Given the description of an element on the screen output the (x, y) to click on. 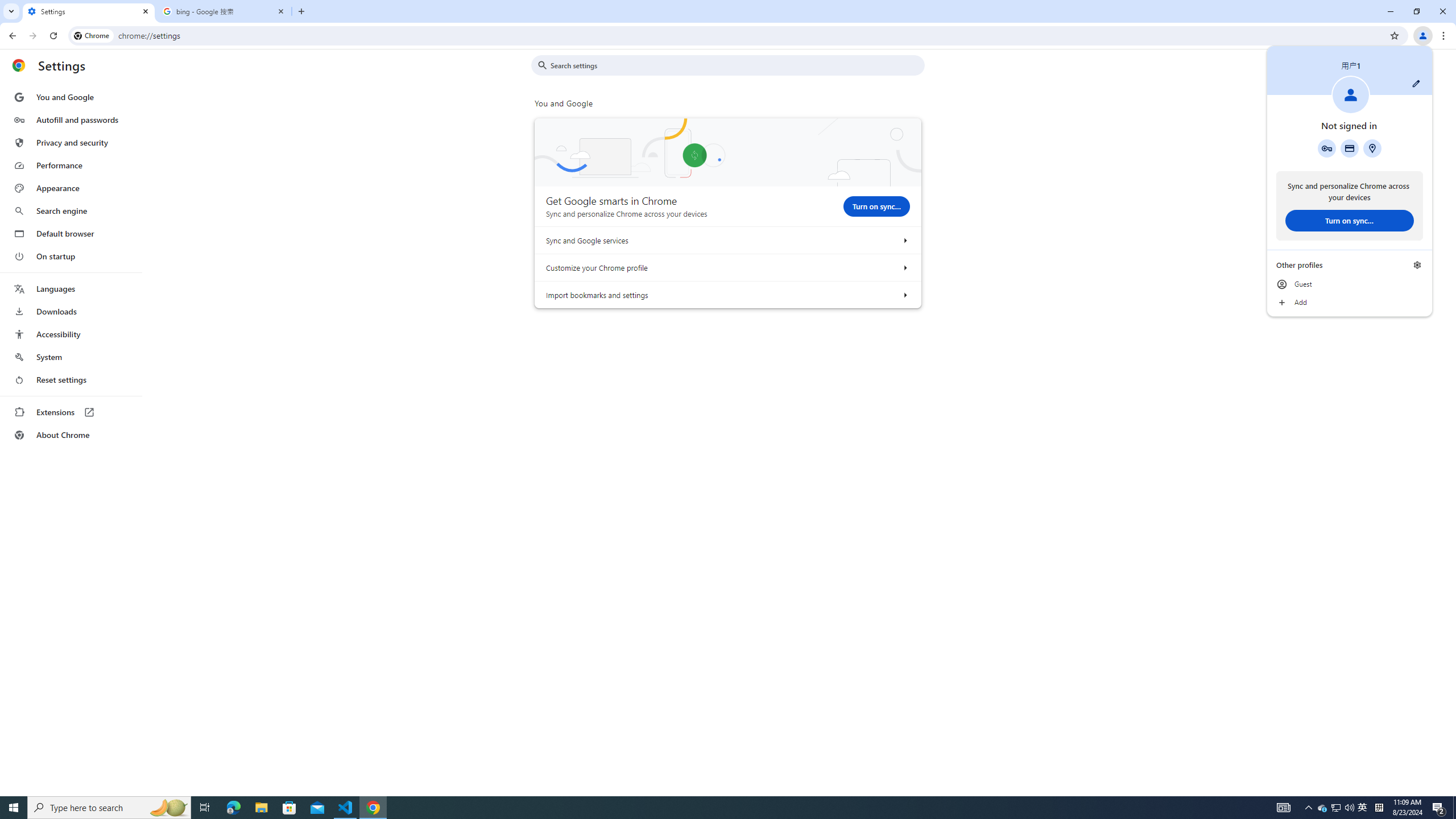
Search settings (735, 65)
Q2790: 100% (1349, 807)
